Given the description of an element on the screen output the (x, y) to click on. 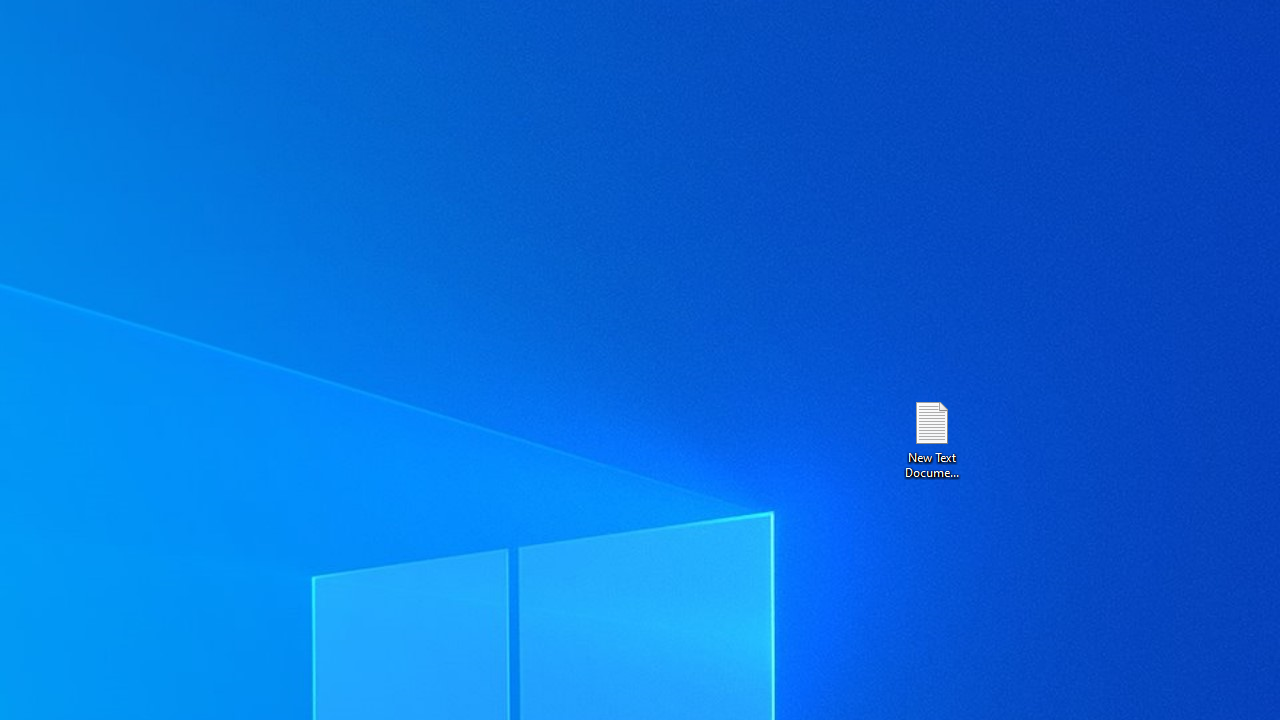
New Text Document (2) (931, 438)
